Given the description of an element on the screen output the (x, y) to click on. 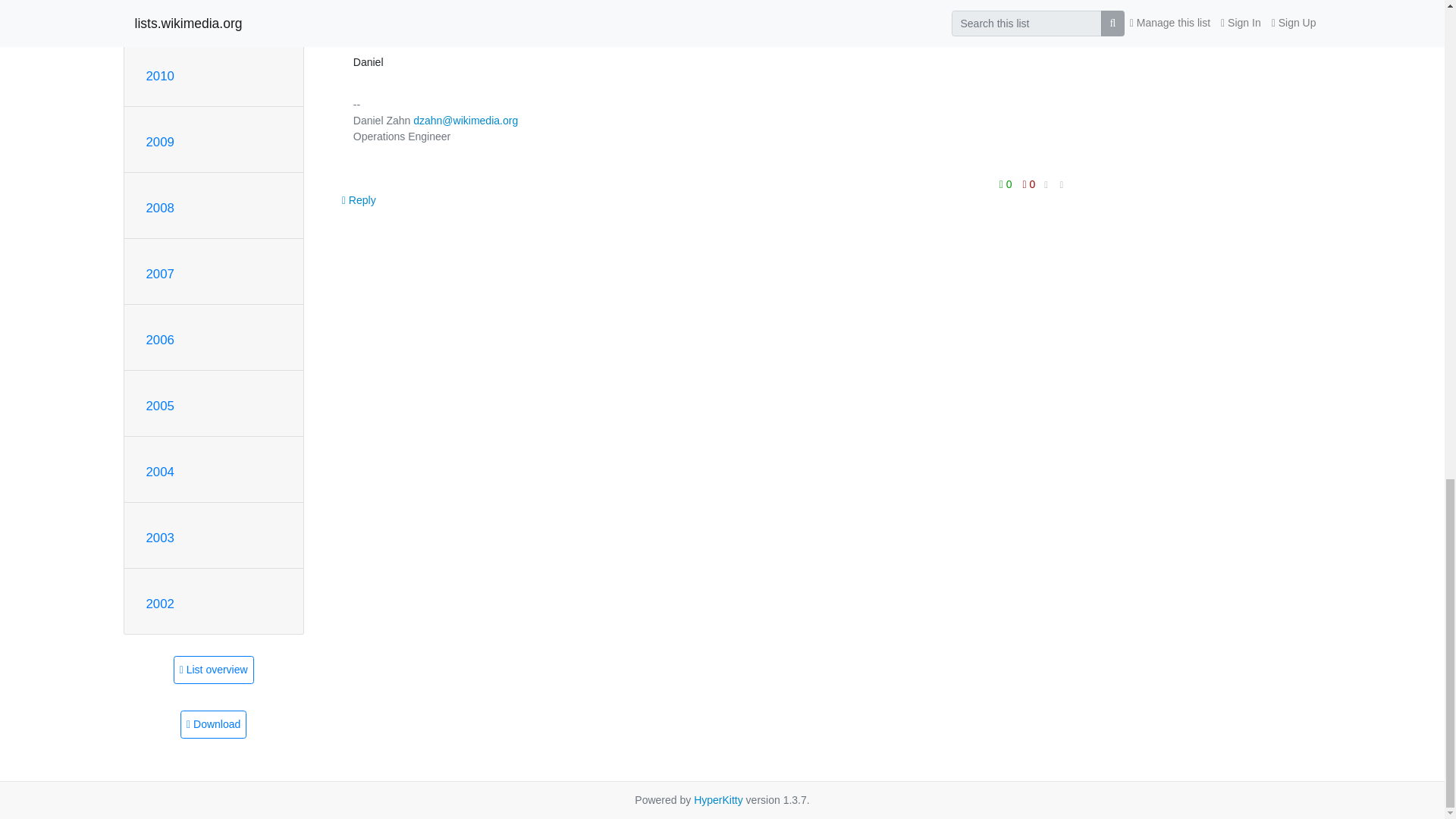
You must be logged-in to vote. (1007, 183)
This message in gzipped mbox format (213, 724)
You must be logged-in to vote. (1029, 183)
Sign in to reply online (359, 198)
